Given the description of an element on the screen output the (x, y) to click on. 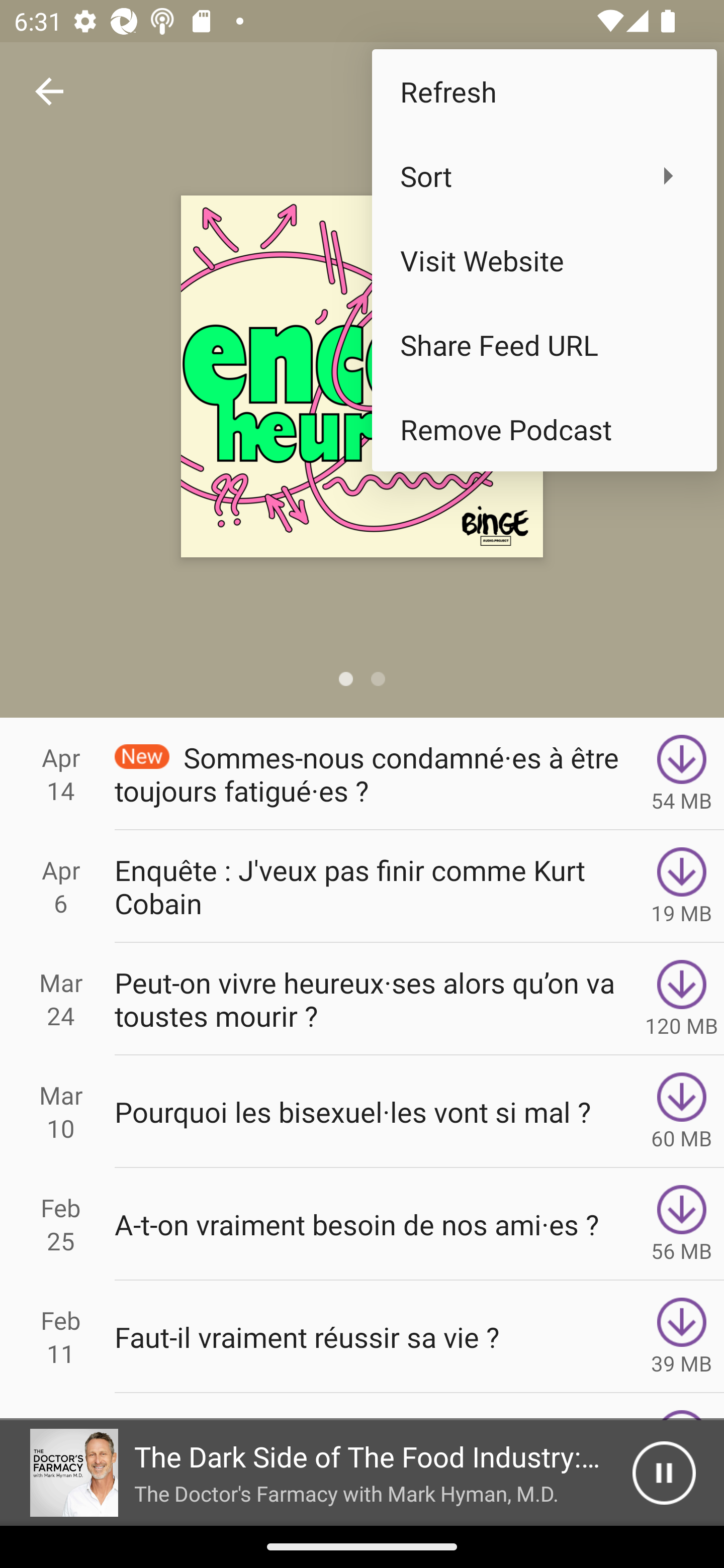
Refresh (544, 90)
Sort (544, 175)
Visit Website (544, 259)
Share Feed URL (544, 344)
Remove Podcast (544, 429)
